Given the description of an element on the screen output the (x, y) to click on. 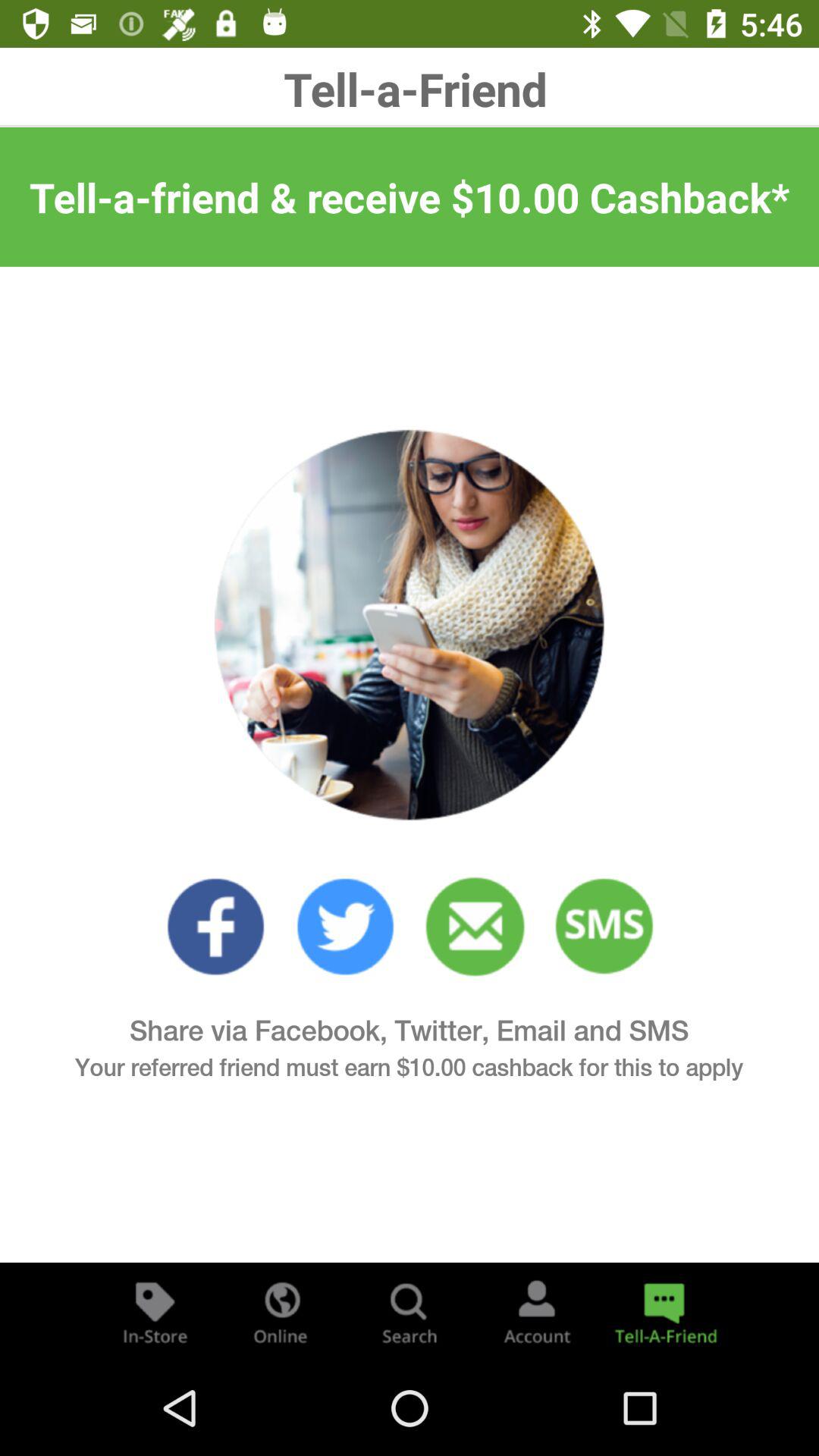
twitter link (345, 926)
